Given the description of an element on the screen output the (x, y) to click on. 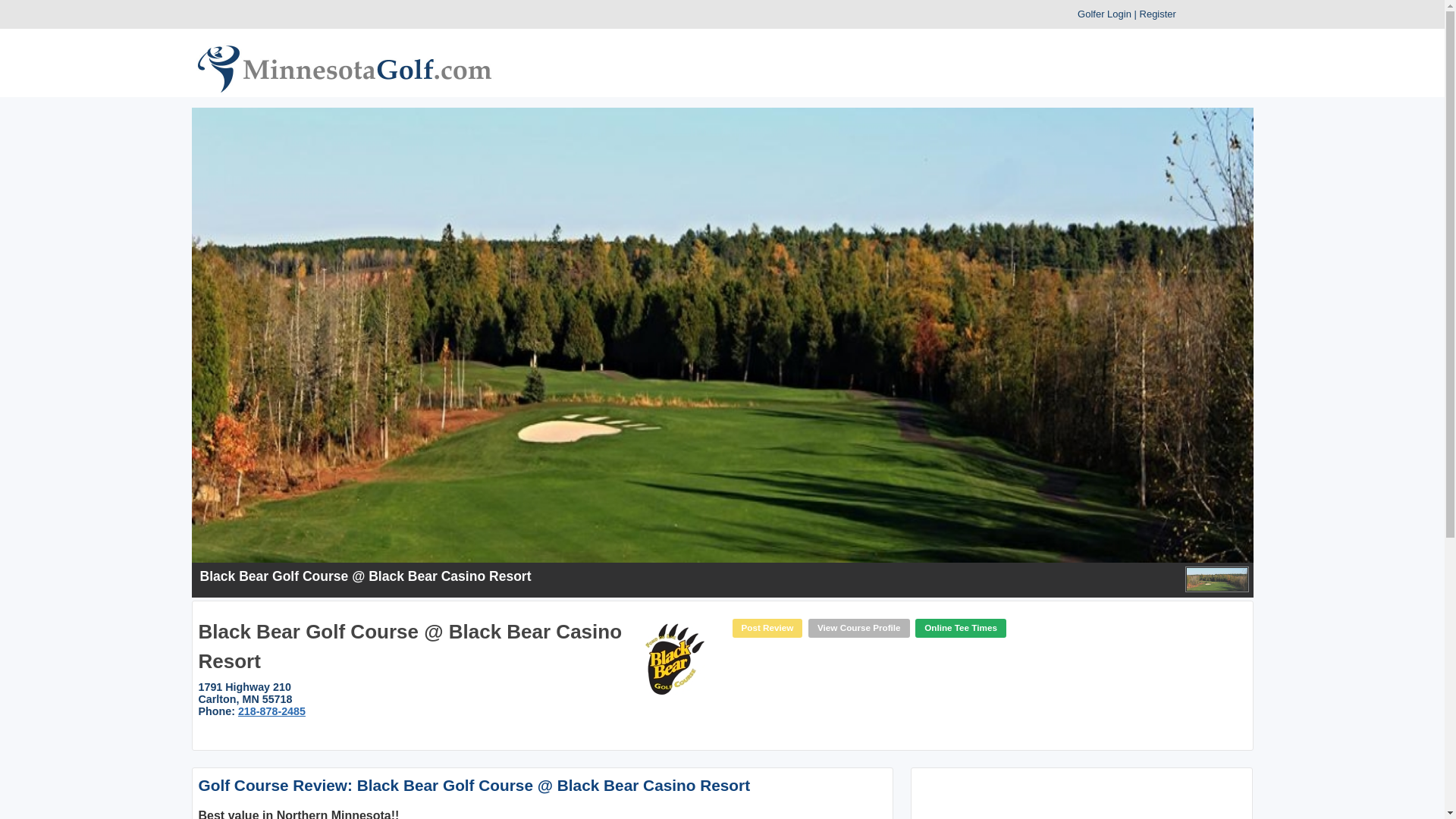
Register (1158, 13)
Golfer Login (1104, 13)
